Given the description of an element on the screen output the (x, y) to click on. 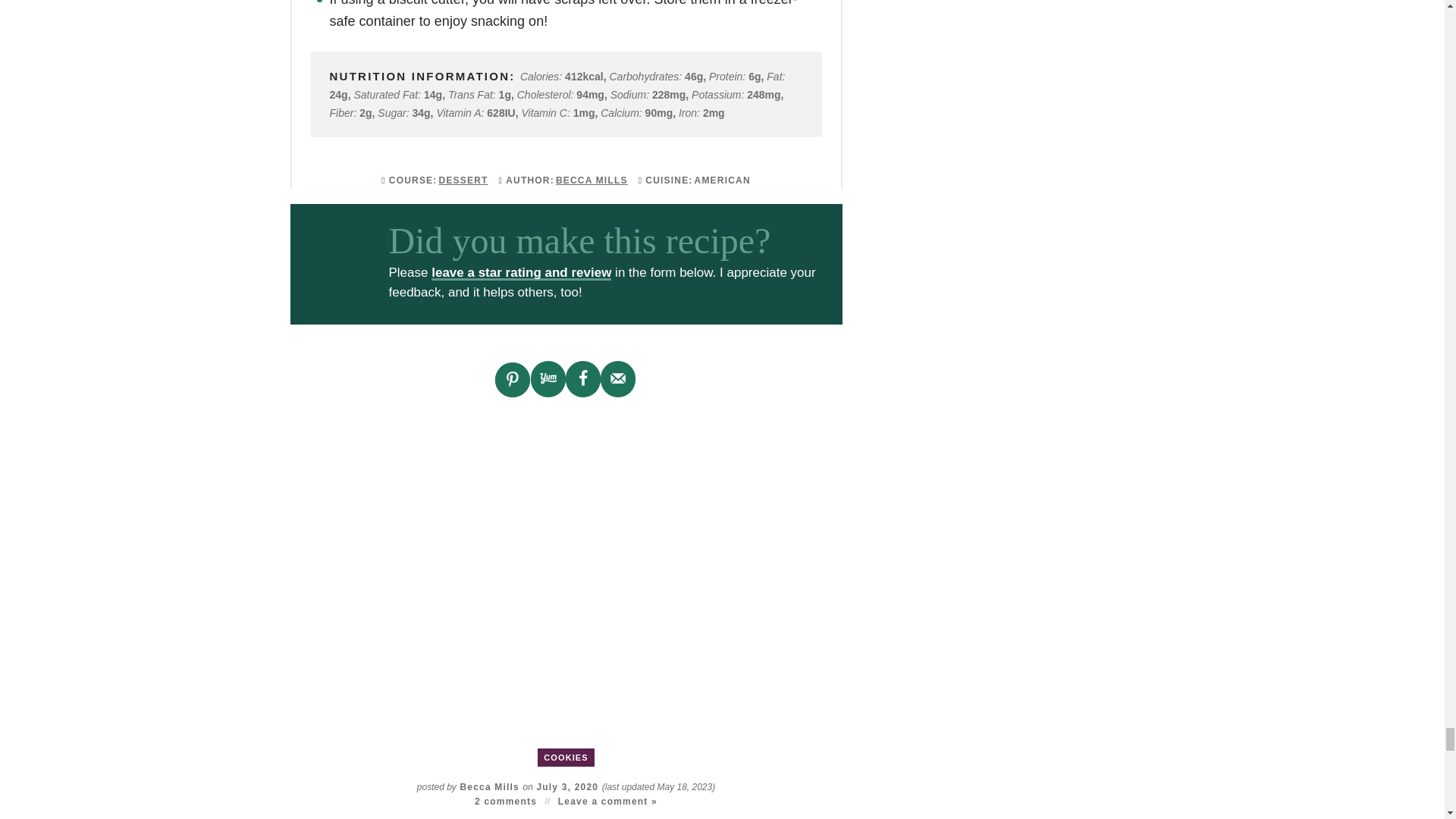
Share on Yummly (548, 379)
Save to Pinterest (512, 379)
Send over email (616, 379)
Share on Facebook (582, 379)
